Given the description of an element on the screen output the (x, y) to click on. 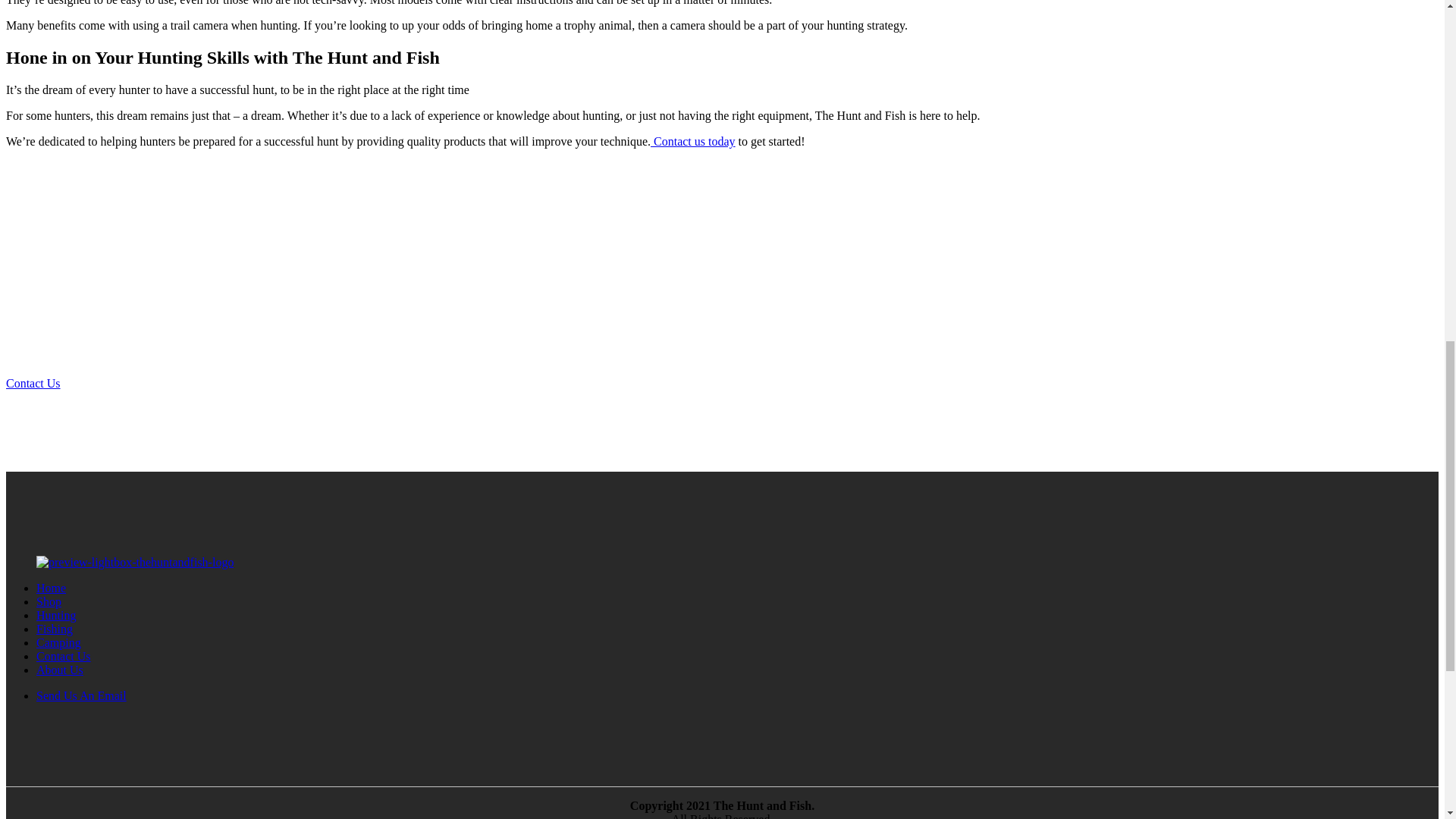
Contact Us (33, 382)
Hunting (55, 615)
Shop (48, 601)
Contact Us (63, 656)
Camping (58, 642)
About Us (59, 669)
Contact us today (692, 141)
Fishing (54, 628)
preview-lightbox-thehuntandfish-logo (134, 562)
Send Us An Email (81, 695)
Home (50, 587)
Contact Us (33, 382)
